Given the description of an element on the screen output the (x, y) to click on. 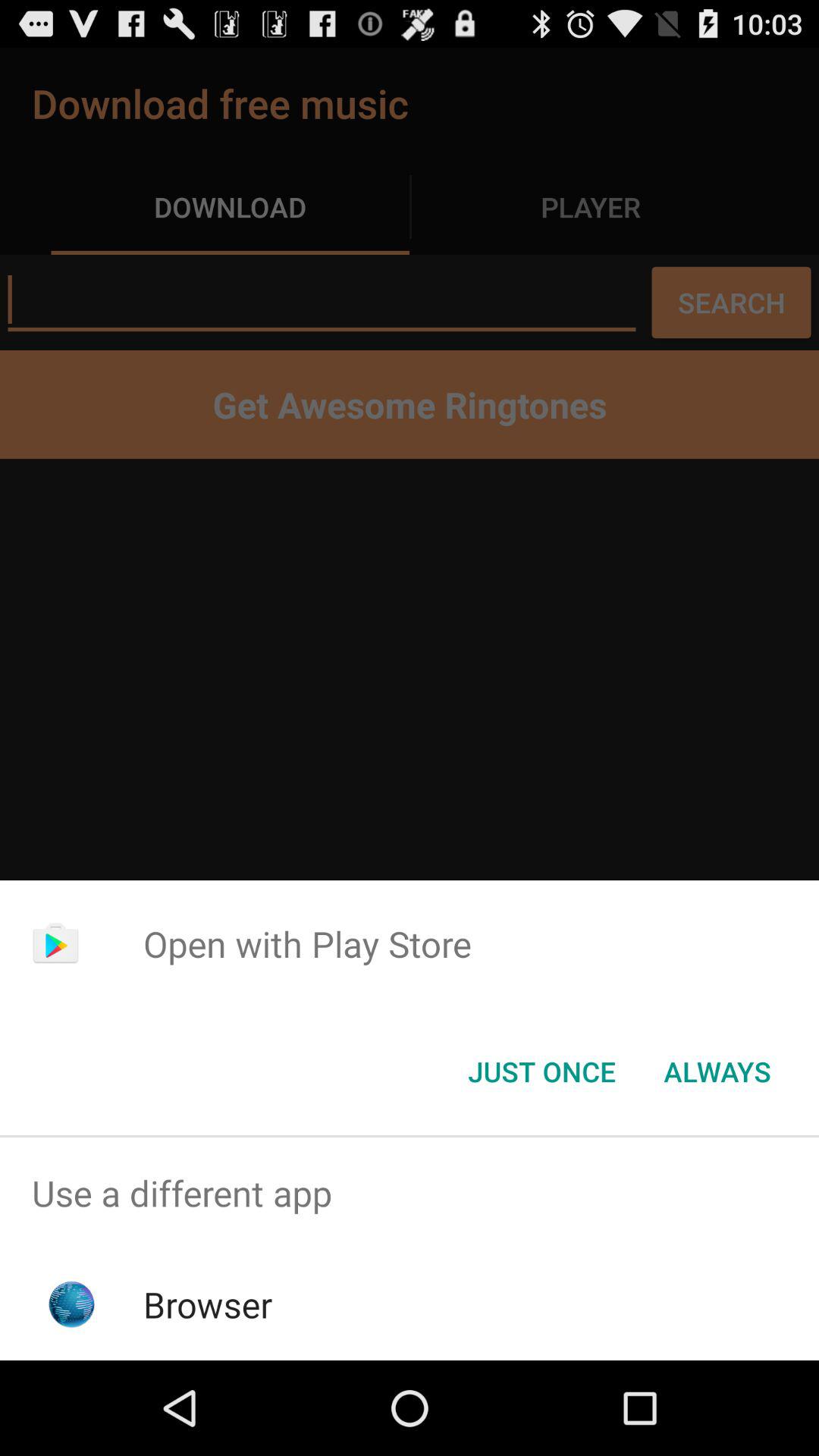
open use a different app (409, 1192)
